Given the description of an element on the screen output the (x, y) to click on. 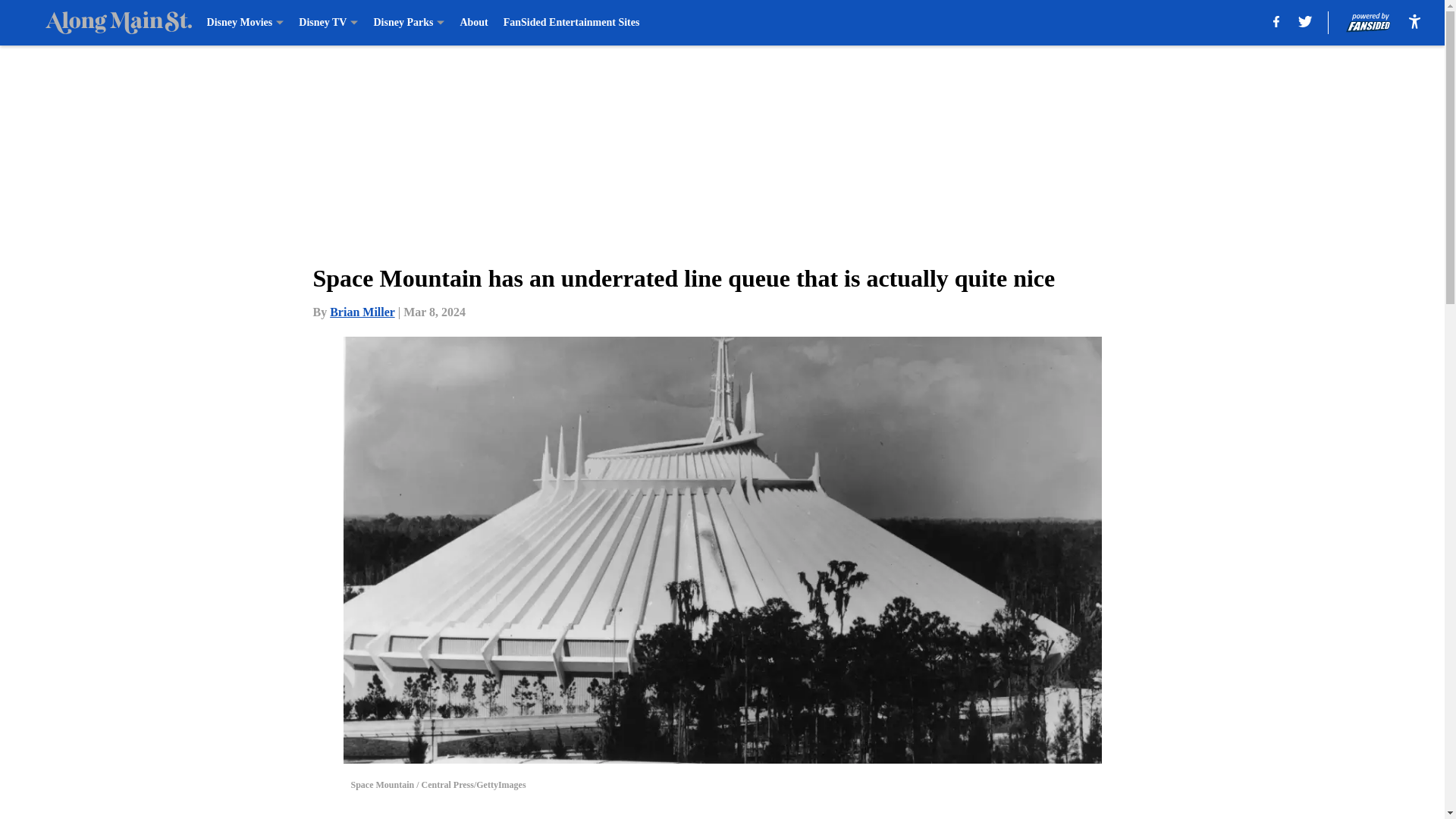
About (473, 22)
Disney TV (328, 22)
Disney Movies (244, 22)
Brian Miller (362, 311)
Disney Parks (408, 22)
FanSided Entertainment Sites (571, 22)
